Given the description of an element on the screen output the (x, y) to click on. 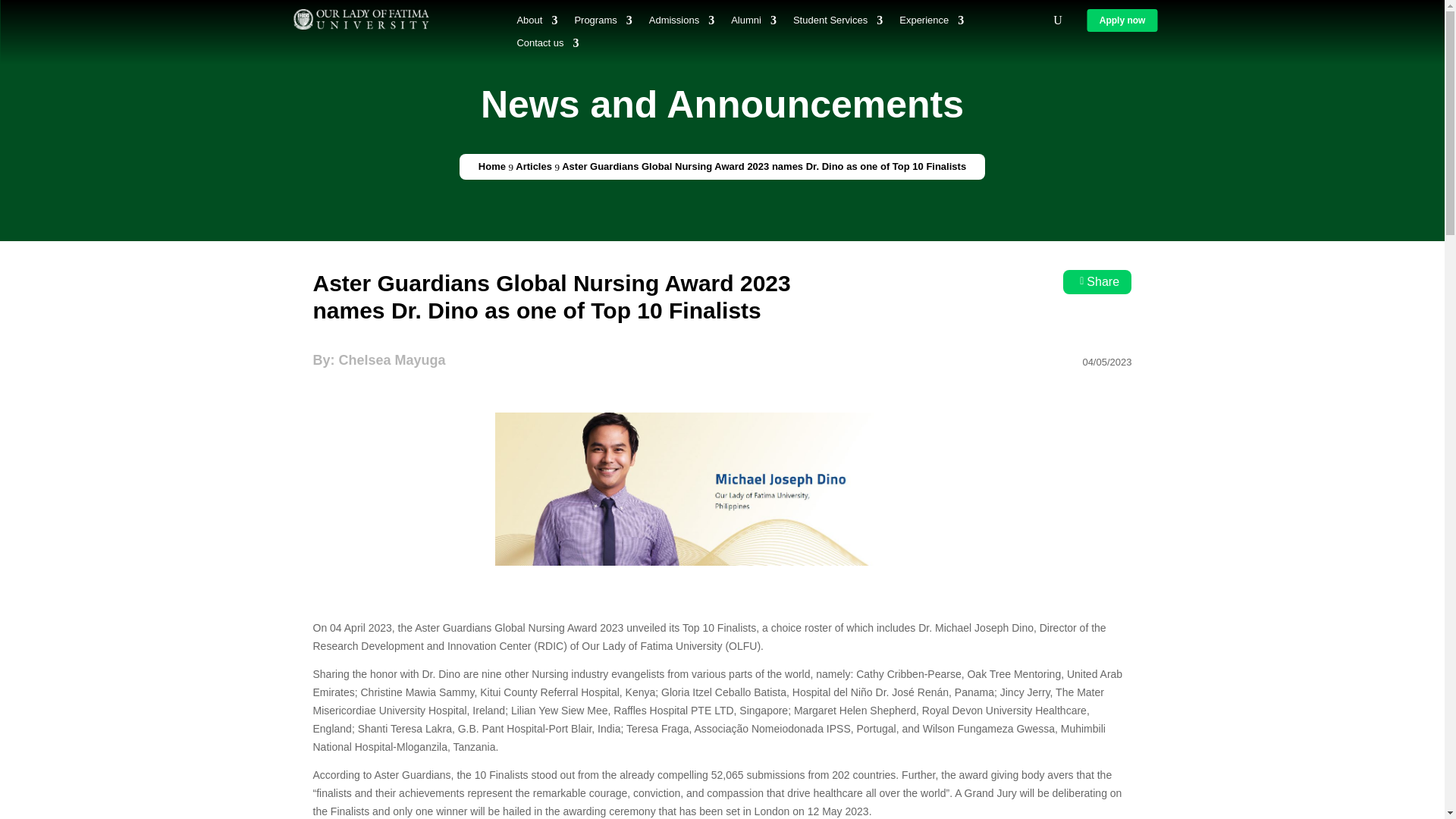
olfu-logo (361, 19)
About (536, 23)
Dr.-Dino-Aster-Guardians (722, 488)
Programs (602, 23)
